Given the description of an element on the screen output the (x, y) to click on. 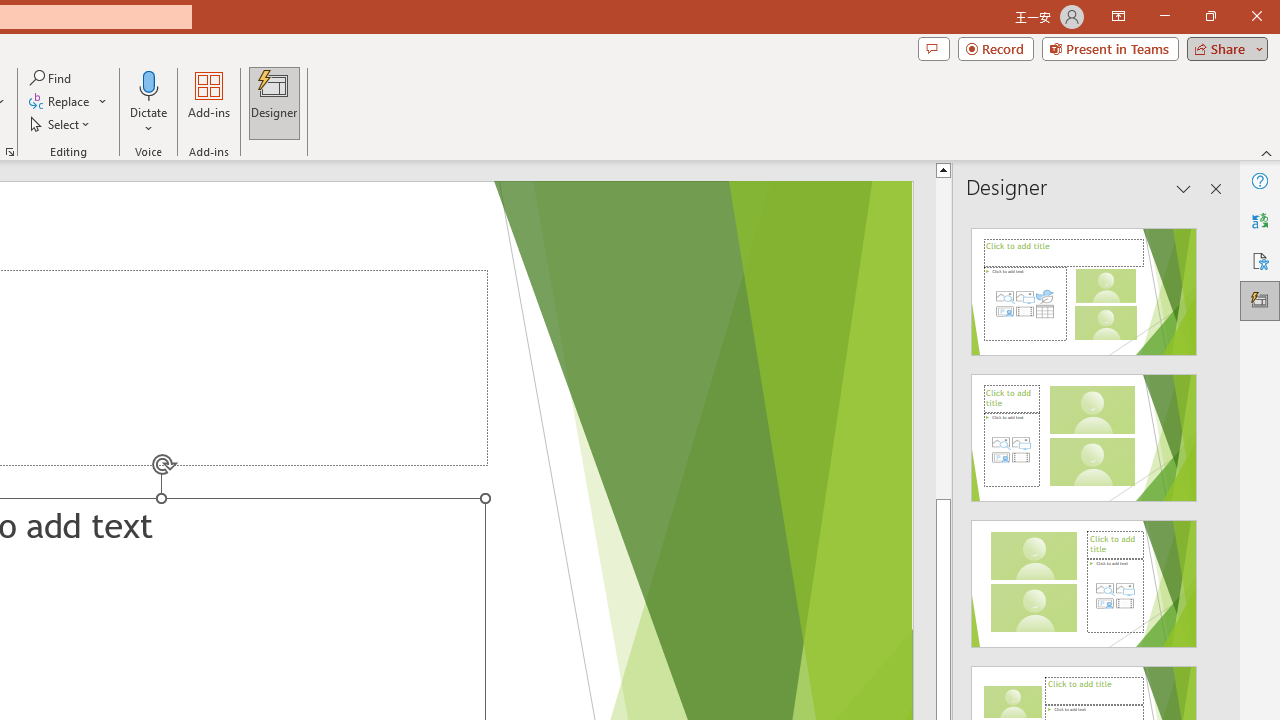
Find... (51, 78)
Design Idea (1083, 577)
Translator (1260, 220)
Select (61, 124)
